Given the description of an element on the screen output the (x, y) to click on. 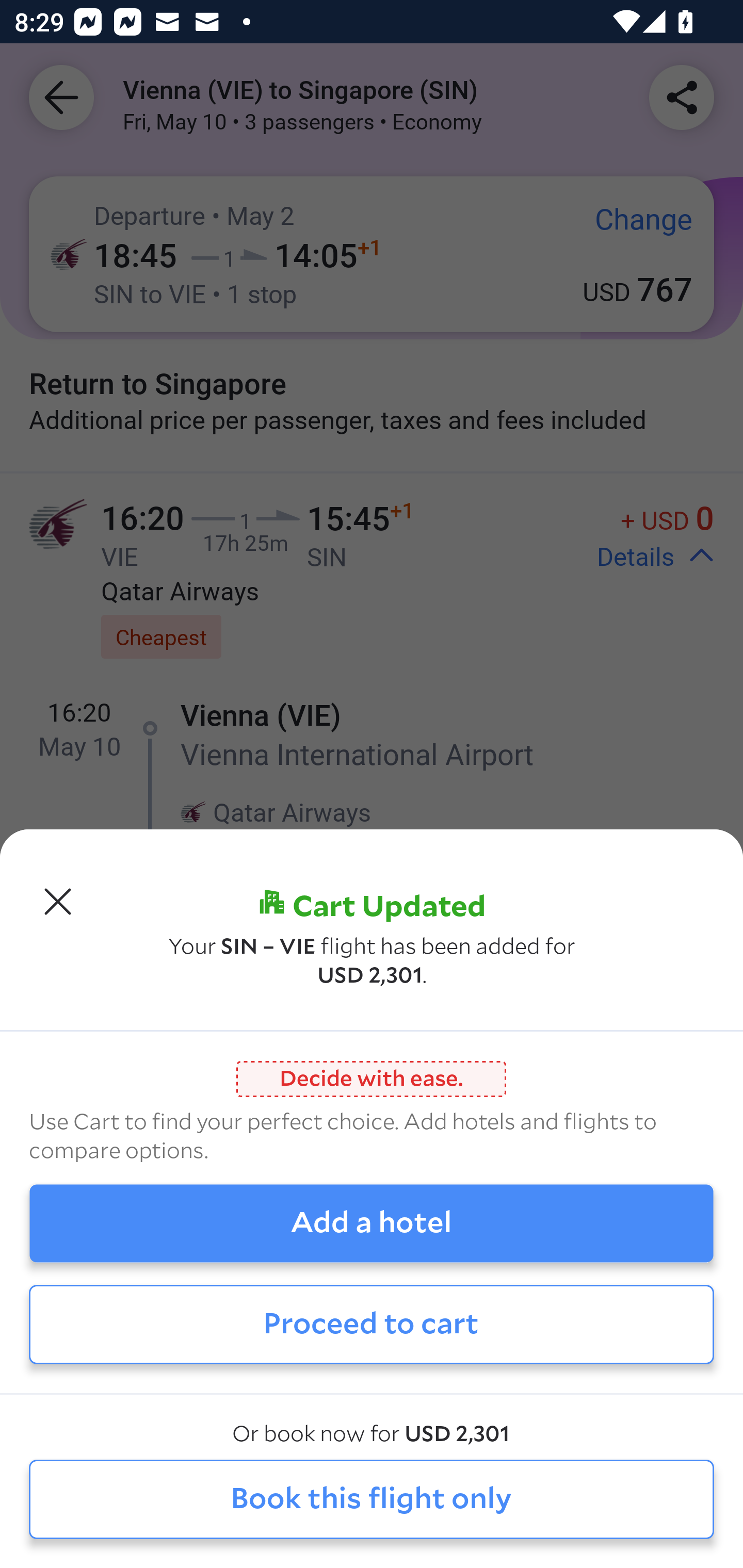
Add a hotel  Add a hotel (371, 1223)
Proceed to cart  Proceed to cart (371, 1324)
Book this flight only  Book this flight only (371, 1499)
